Given the description of an element on the screen output the (x, y) to click on. 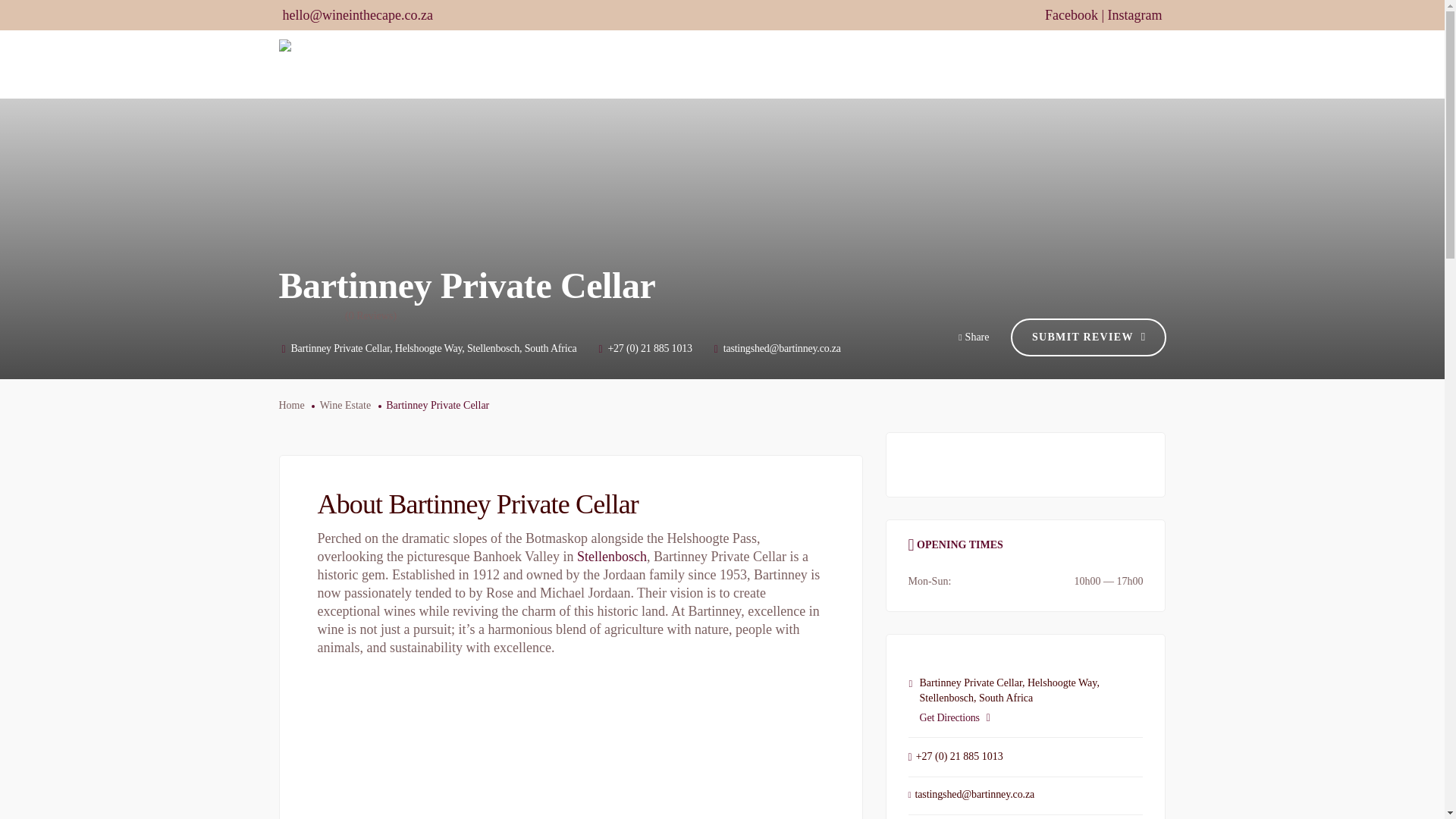
Facebook (1071, 14)
Cape Wine Blog (1037, 64)
Explore (950, 64)
Contact Us (1132, 64)
Wine Tours (799, 64)
Cape Wine Routes (694, 64)
Instagram (1134, 14)
Home (605, 64)
Weddings (879, 64)
